Given the description of an element on the screen output the (x, y) to click on. 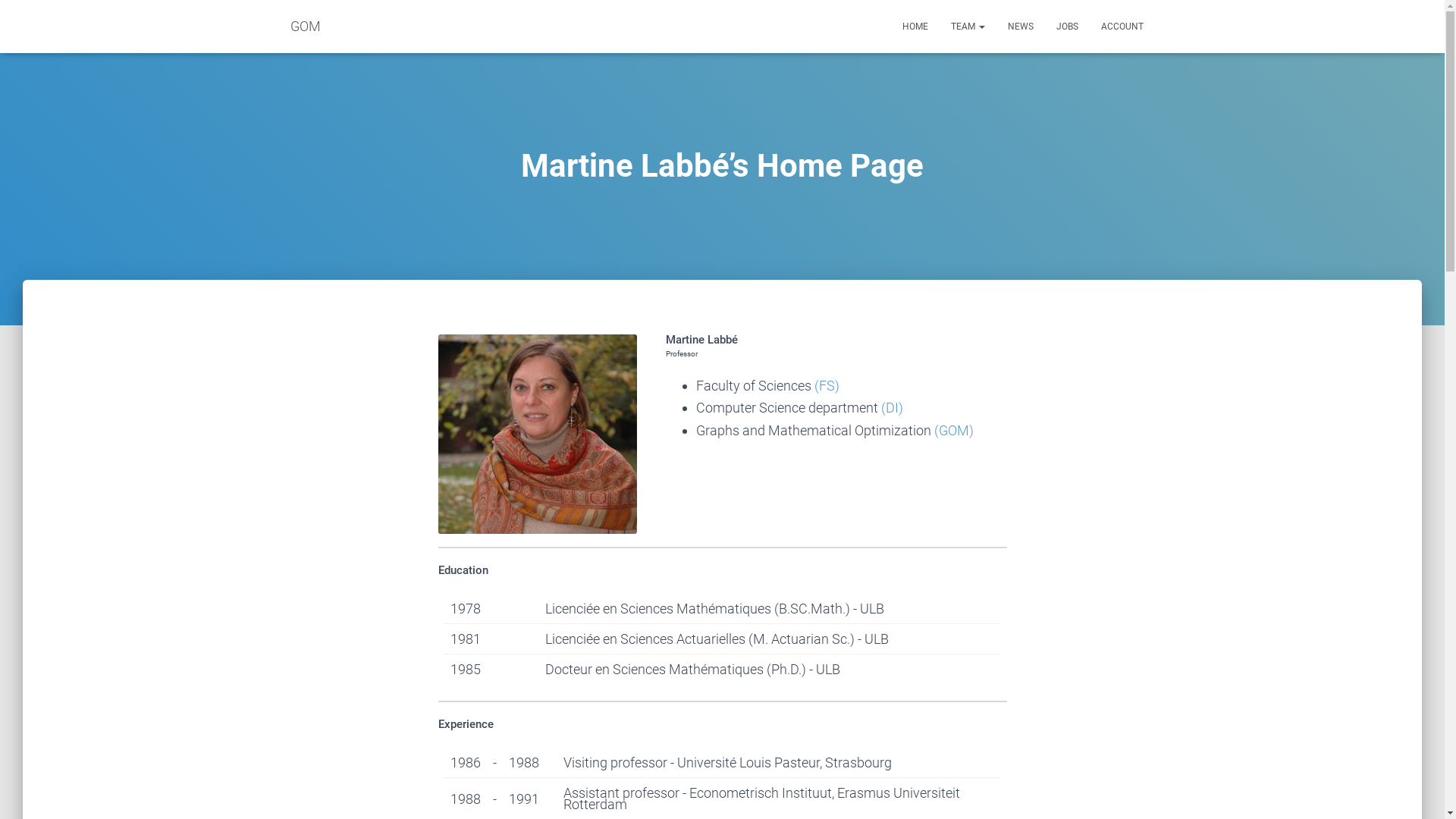
GOM Element type: text (305, 26)
(DI) Element type: text (892, 407)
(FS) Element type: text (826, 385)
(GOM) Element type: text (953, 430)
JOBS Element type: text (1066, 26)
NEWS Element type: text (1020, 26)
ACCOUNT Element type: text (1121, 26)
TEAM Element type: text (966, 26)
HOME Element type: text (914, 26)
